Given the description of an element on the screen output the (x, y) to click on. 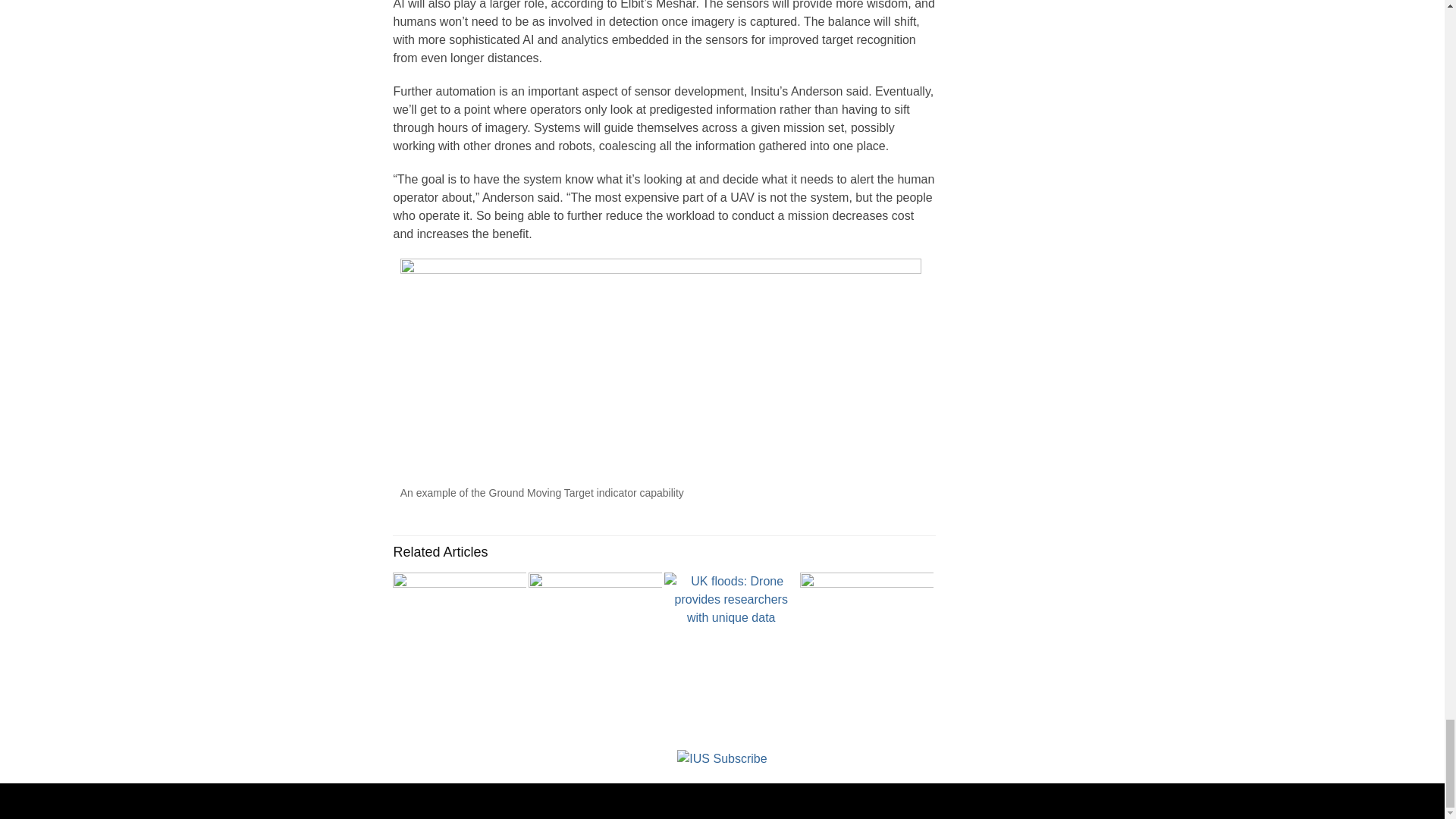
UK floods: Drone provides researchers with unique data (731, 600)
